Given the description of an element on the screen output the (x, y) to click on. 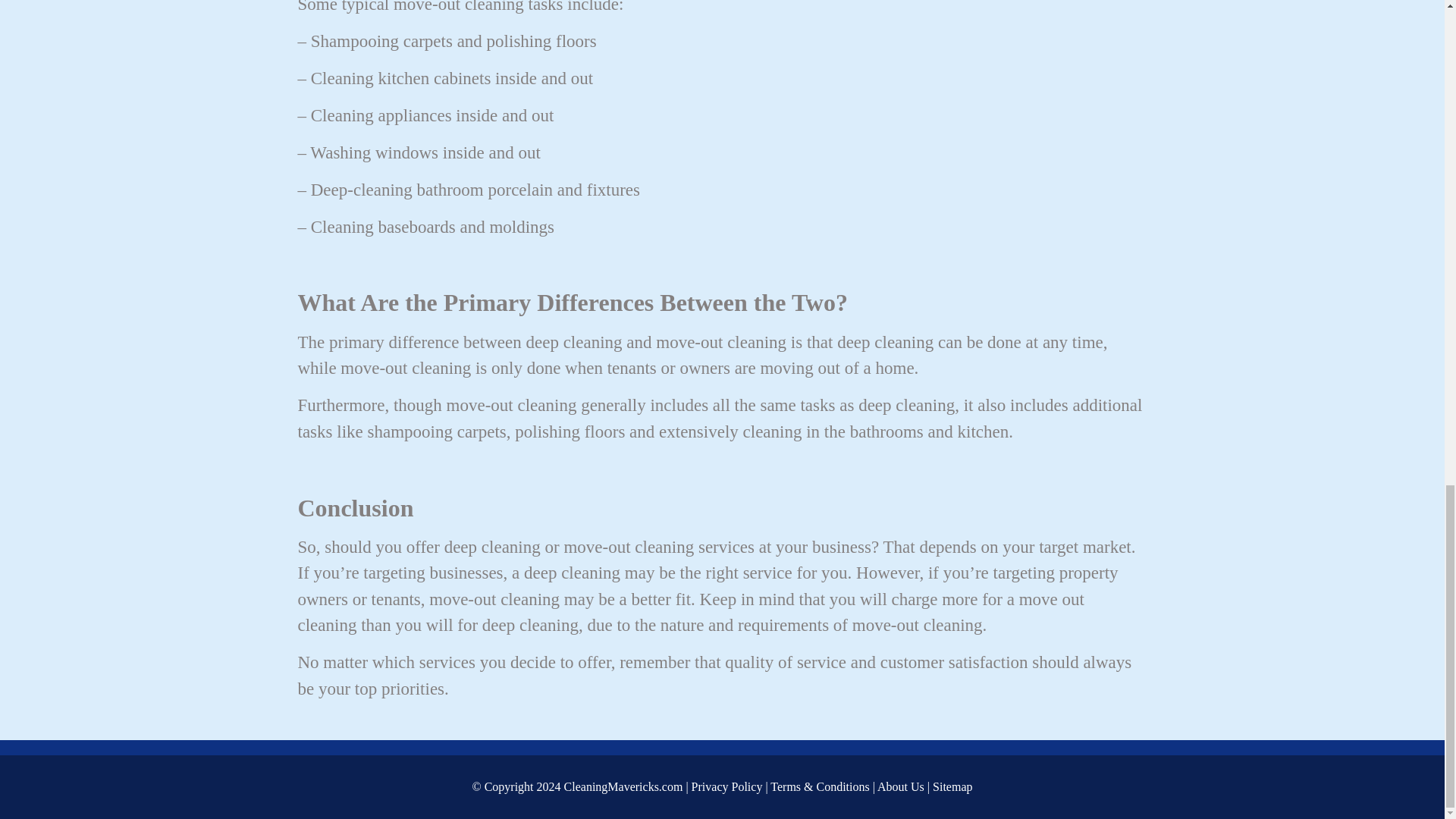
Privacy Policy (726, 786)
